Given the description of an element on the screen output the (x, y) to click on. 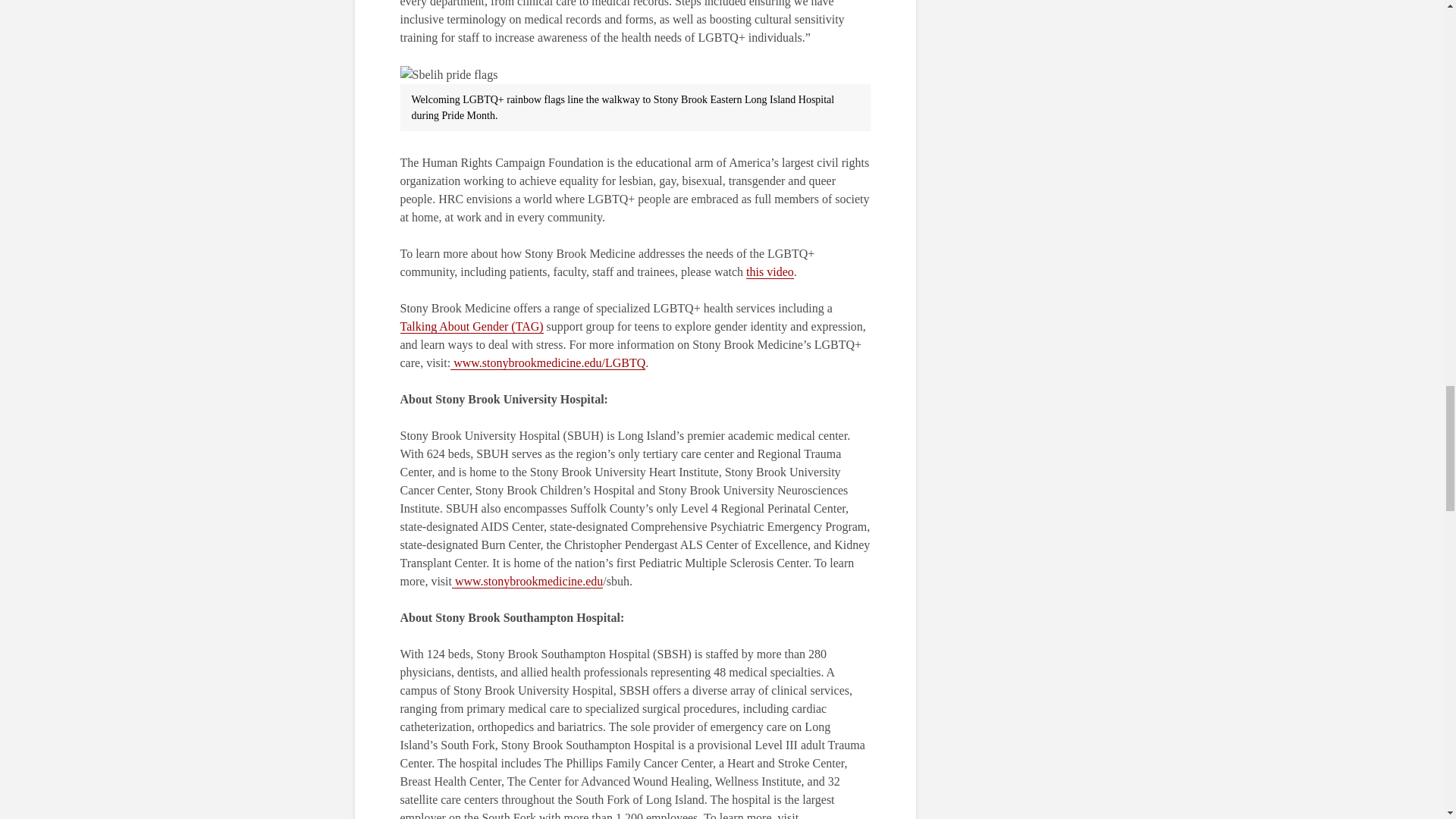
Sbelih pride flags (448, 75)
